Given the description of an element on the screen output the (x, y) to click on. 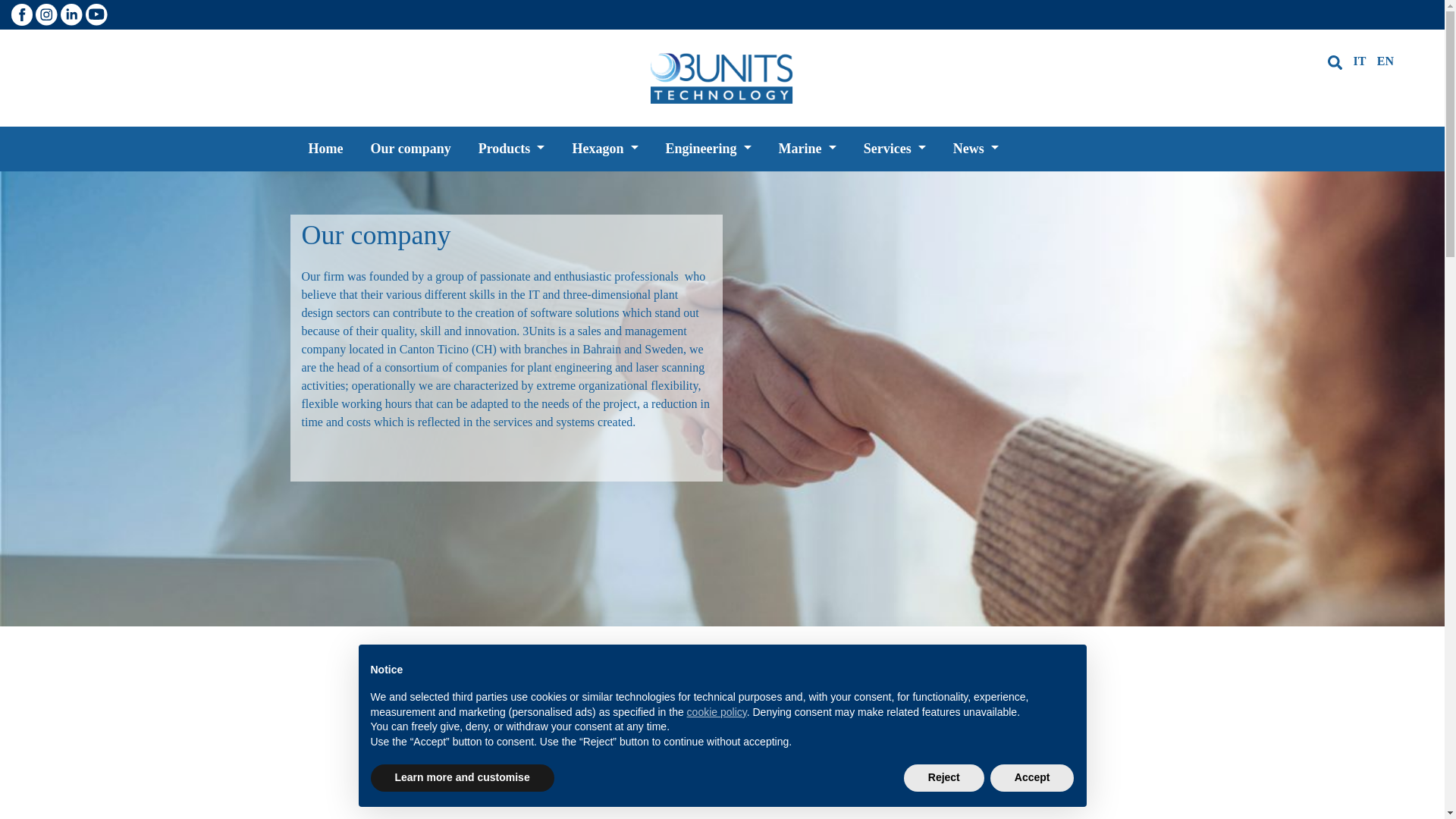
cookie policy Element type: text (716, 712)
IT Element type: text (1358, 60)
Marine Element type: text (807, 148)
Products Element type: text (511, 148)
EN Element type: text (1385, 60)
Home Element type: text (324, 148)
Hexagon Element type: text (604, 148)
Learn more and customise Element type: text (461, 777)
Accept Element type: text (1032, 777)
Engineering Element type: text (708, 148)
Reject Element type: text (943, 777)
Services Element type: text (894, 148)
News Element type: text (975, 148)
Our company Element type: text (410, 148)
